Given the description of an element on the screen output the (x, y) to click on. 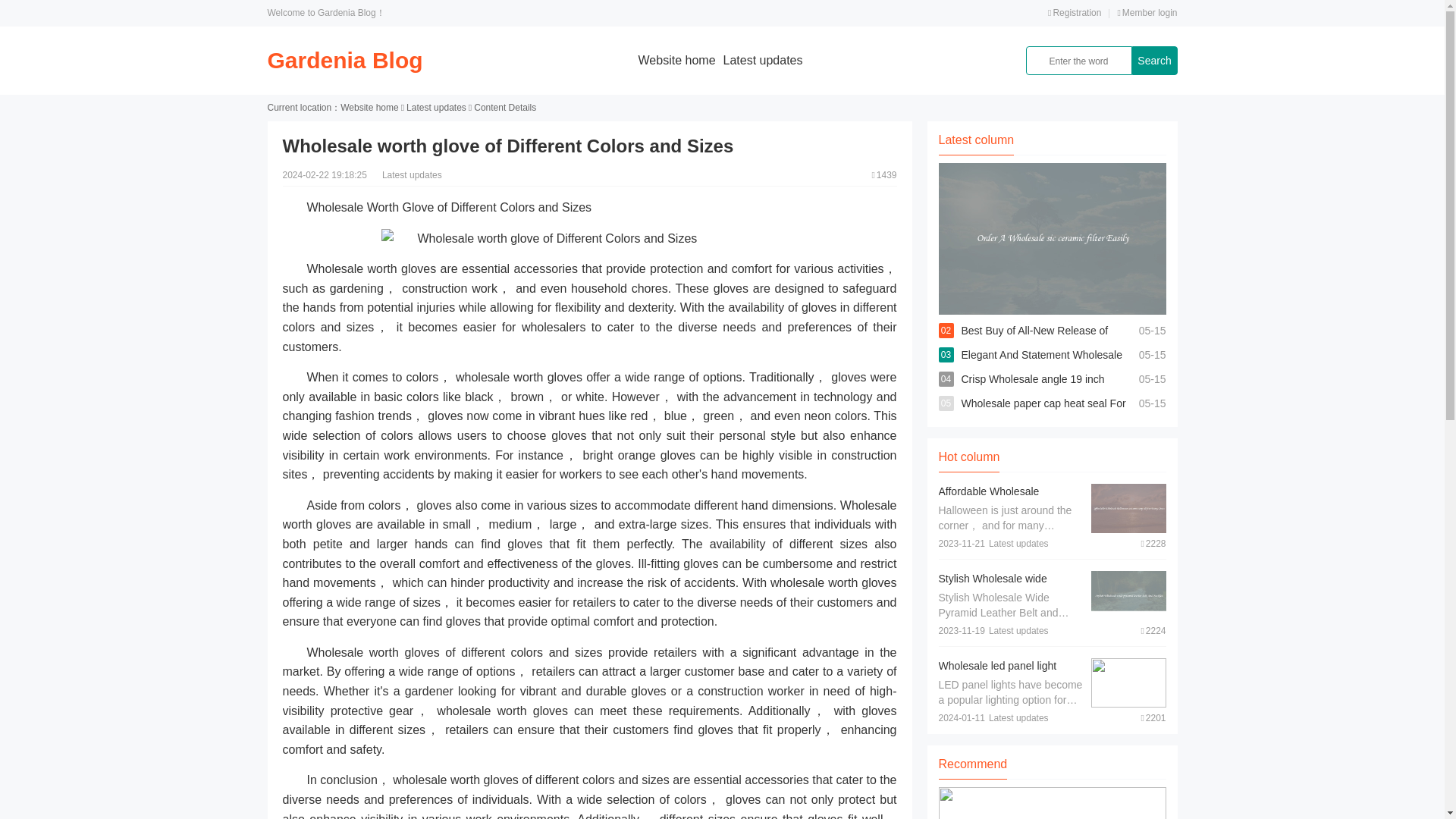
Latest updates (763, 60)
Stylish Wholesale wide pyramid leather belt And Buckles (995, 593)
Member login (1146, 12)
Search (1153, 60)
Best Buy of All-New Release of computer card (1034, 342)
Wholesale paper cap heat seal For All Your Storage Demands (1042, 415)
Website home (368, 107)
